Given the description of an element on the screen output the (x, y) to click on. 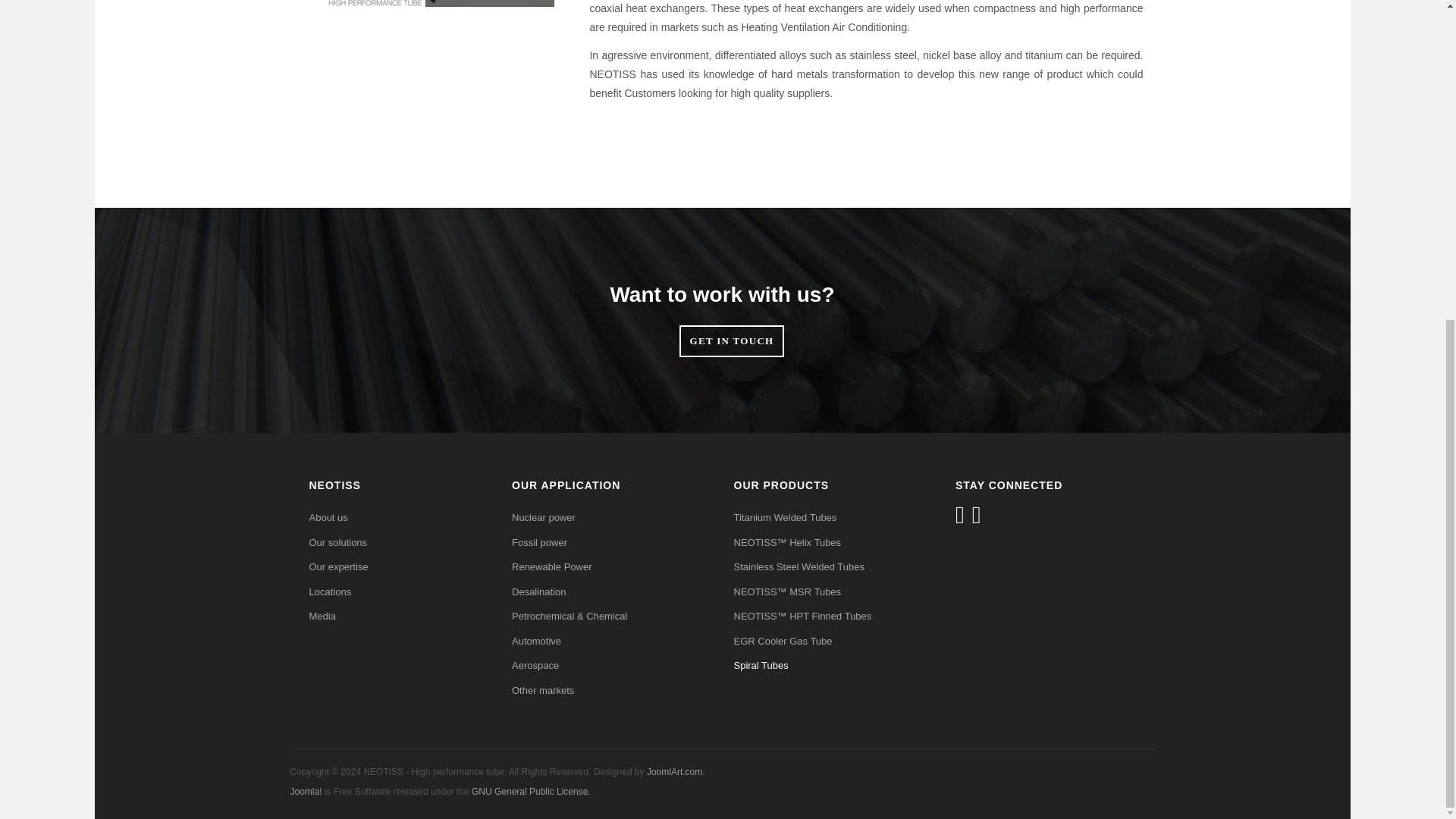
Get in Touch (731, 340)
Visit Joomlart.com! (673, 771)
